Given the description of an element on the screen output the (x, y) to click on. 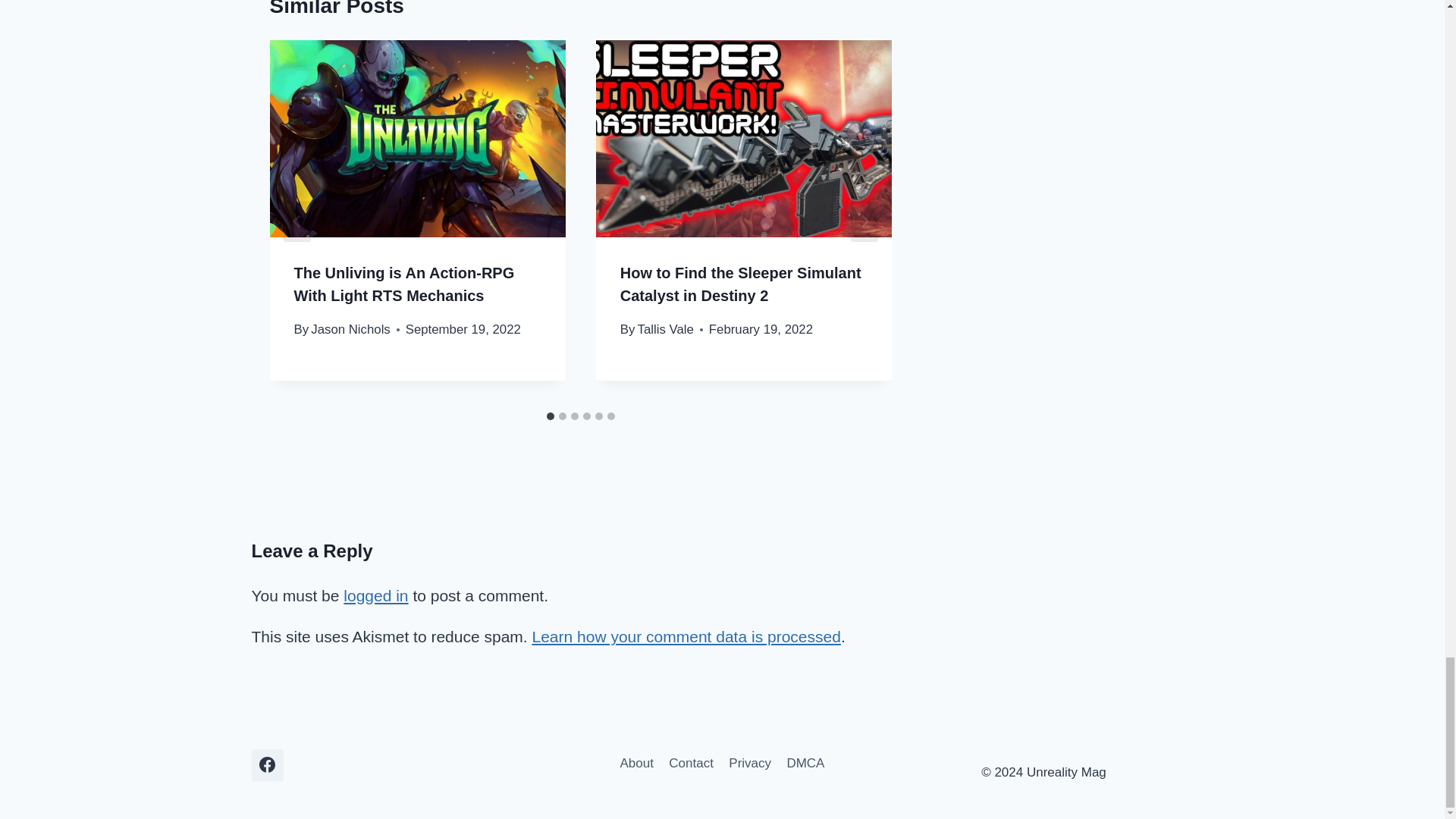
The Unliving is An Action-RPG With Light RTS Mechanics (404, 283)
Jason Nichols (350, 329)
Tallis Vale (665, 329)
How to Find the Sleeper Simulant Catalyst in Destiny 2 (740, 283)
